Given the description of an element on the screen output the (x, y) to click on. 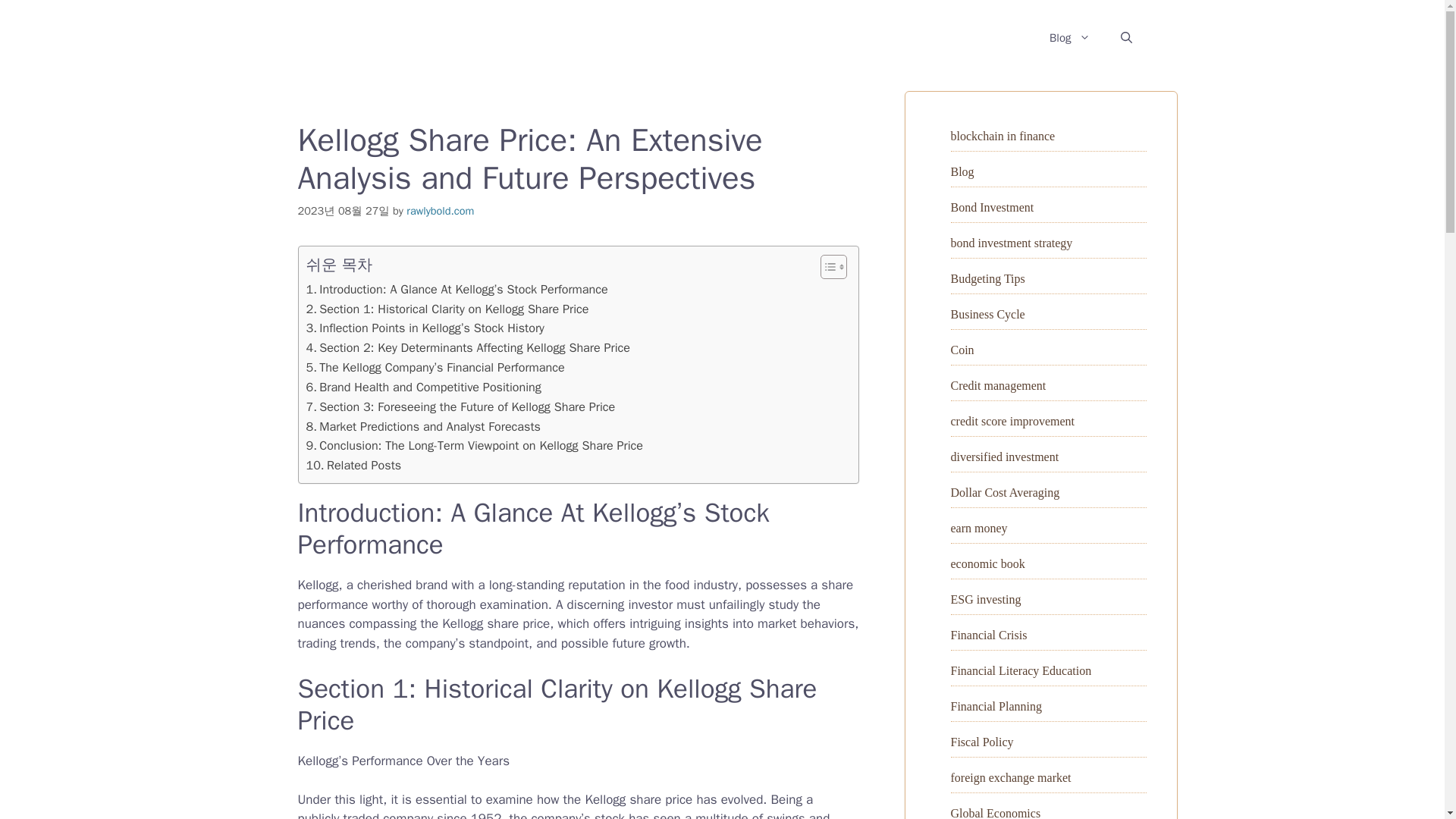
The secret of financial technology (436, 37)
Conclusion: The Long-Term Viewpoint on Kellogg Share Price (474, 445)
Brand Health and Competitive Positioning (423, 387)
Credit management (998, 385)
blockchain in finance (1002, 135)
Blog (962, 171)
Section 2: Key Determinants Affecting Kellogg Share Price (467, 347)
Bond Investment (991, 206)
Market Predictions and Analyst Forecasts (422, 426)
bond investment strategy (1011, 242)
